Given the description of an element on the screen output the (x, y) to click on. 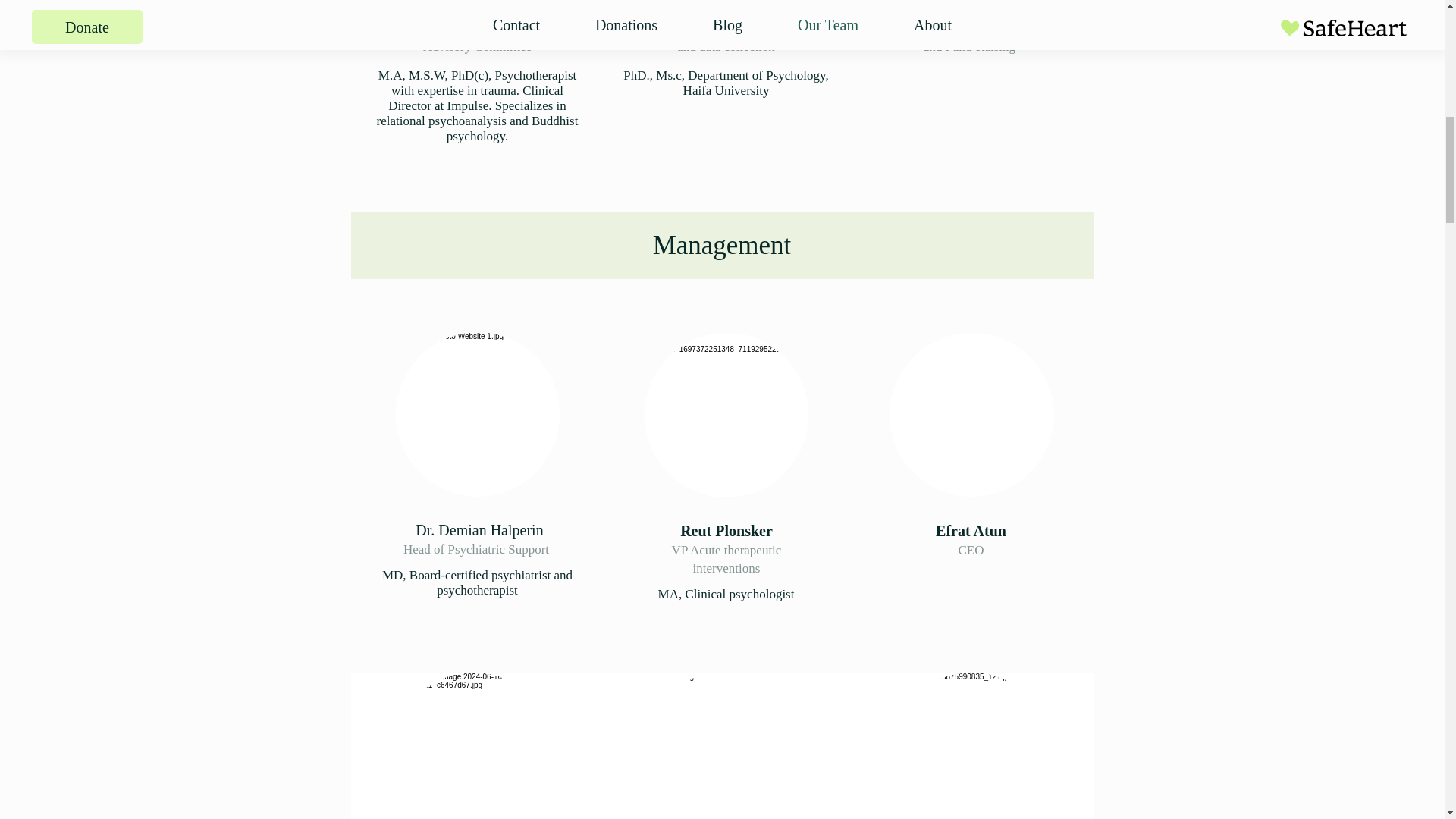
guy4.jpg (477, 414)
guy3.jpg (970, 414)
guy3.jpg (970, 745)
guy3.jpg (473, 745)
guy4.jpg (721, 745)
guy4.jpg (726, 414)
